Given the description of an element on the screen output the (x, y) to click on. 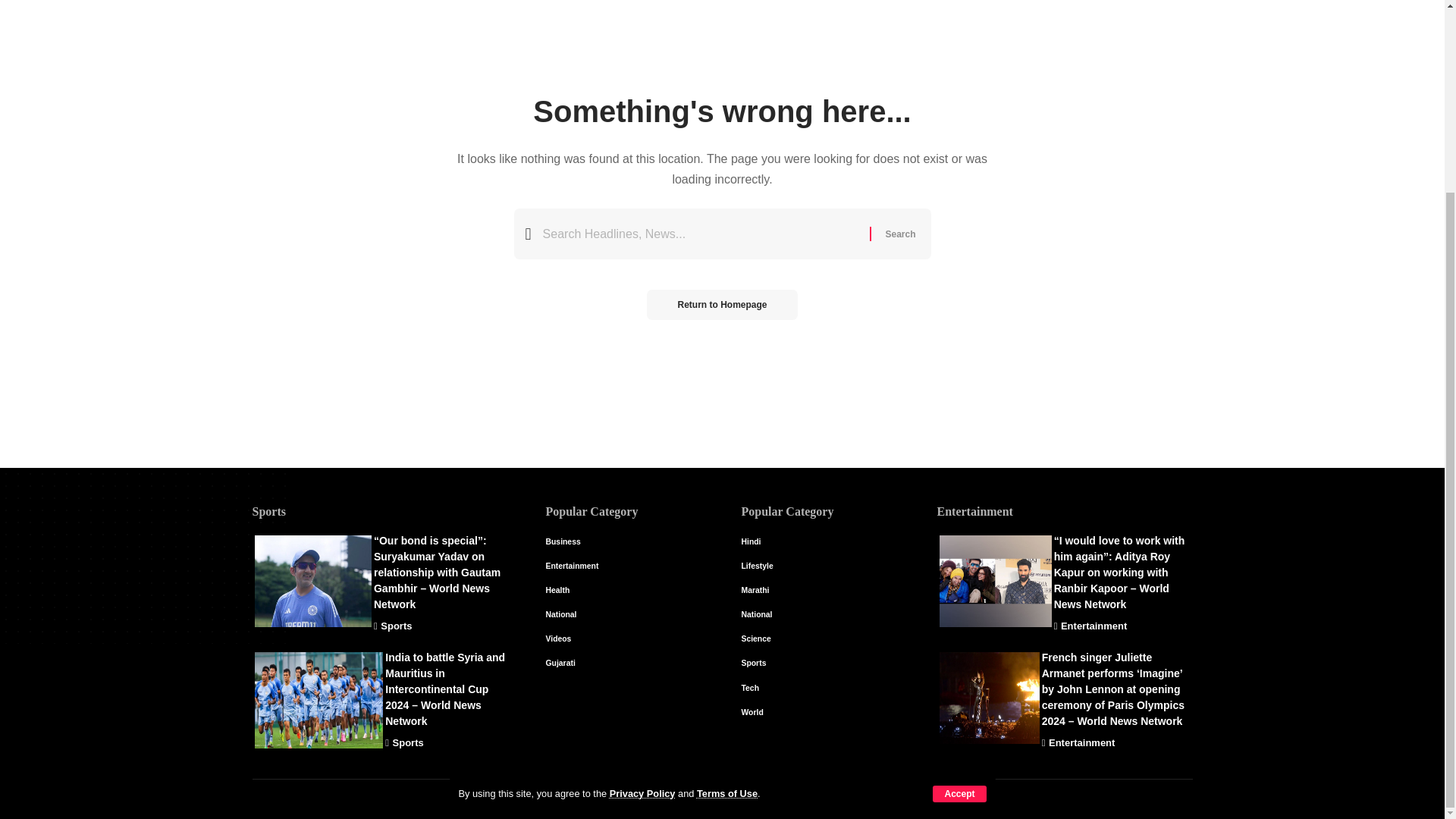
Accept (959, 551)
Search (899, 233)
Privacy Policy (642, 551)
Terms of Use (727, 551)
